Given the description of an element on the screen output the (x, y) to click on. 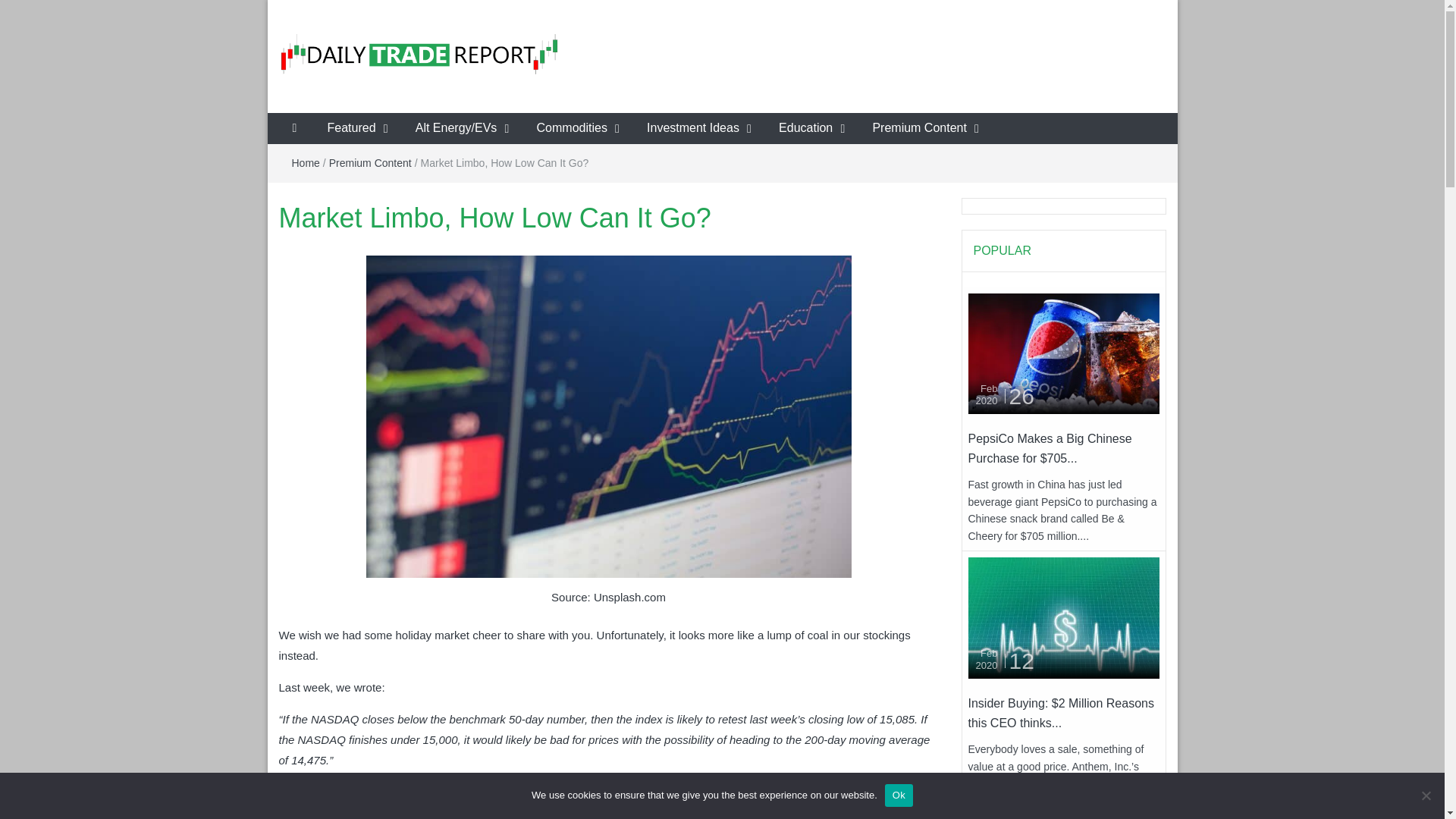
Featured (352, 128)
Daily Trade Report (392, 96)
Commodities (571, 128)
